Given the description of an element on the screen output the (x, y) to click on. 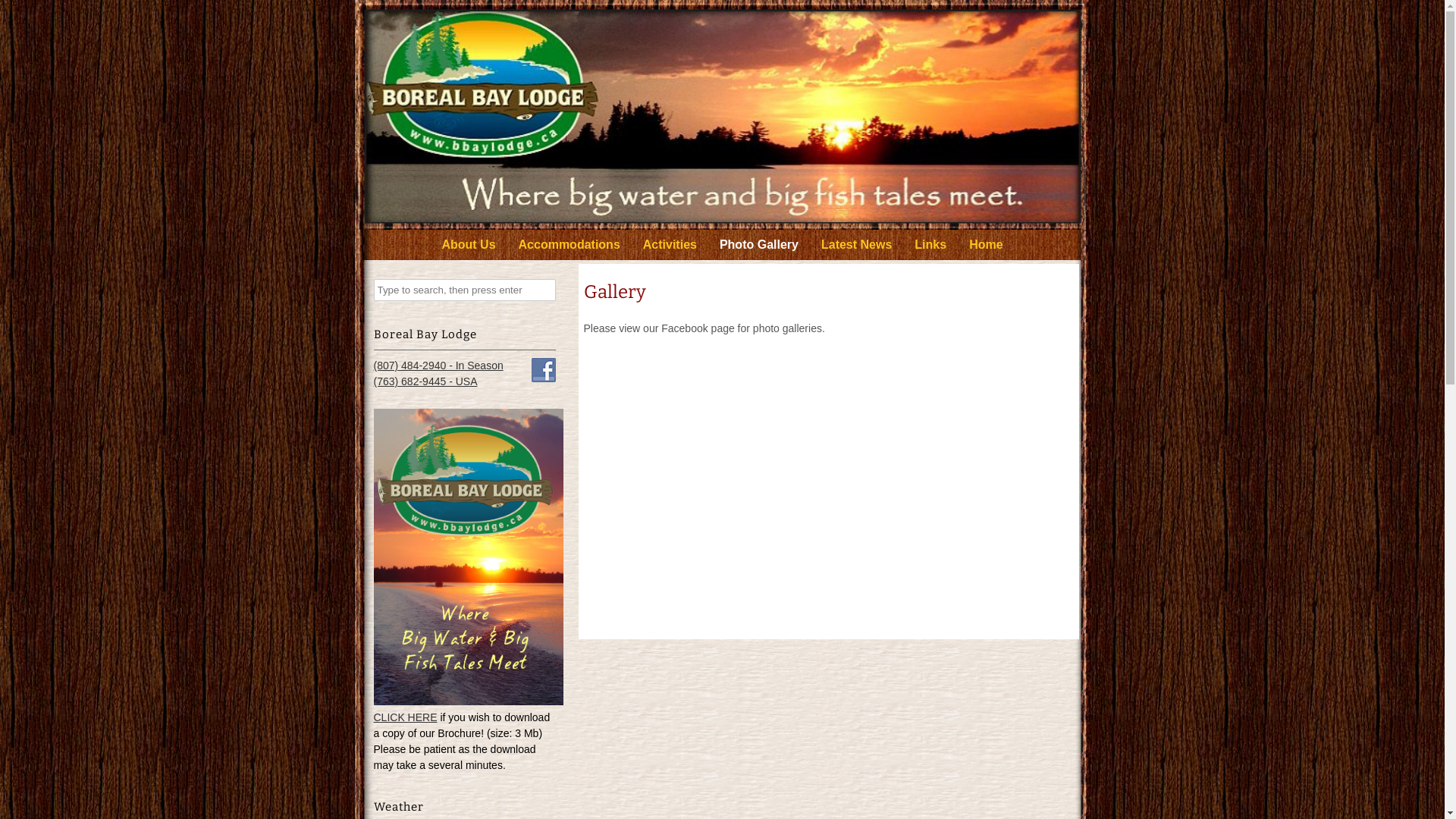
About Us Element type: text (467, 244)
CLICK HERE Element type: text (404, 717)
(763) 682-9445 - USA Element type: text (424, 381)
Type to search, then press enter Element type: text (464, 290)
Photo Gallery Element type: text (758, 244)
Latest News Element type: text (856, 244)
Search Element type: text (23, 10)
Accommodations Element type: text (569, 244)
(807) 484-2940 - In Season Element type: text (437, 365)
Home Element type: text (985, 244)
Activities Element type: text (669, 244)
Follow Us on Facebook Element type: hover (542, 369)
Links Element type: text (930, 244)
